Given the description of an element on the screen output the (x, y) to click on. 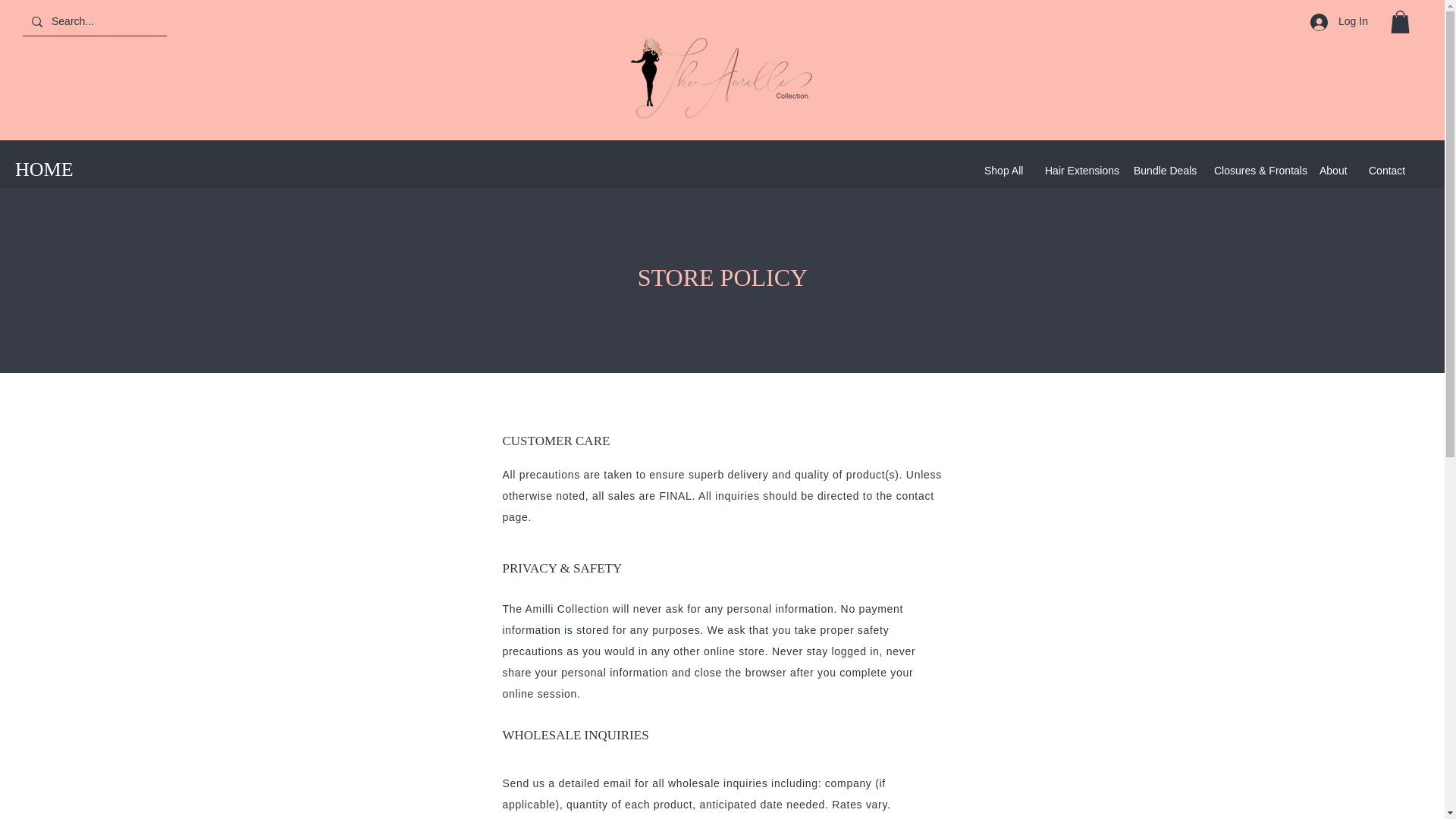
About (1331, 170)
Log In (1339, 22)
Hair Extensions (1077, 170)
Contact (1385, 170)
HOME (44, 169)
Bundle Deals (1162, 170)
Shop All (1002, 170)
